Given the description of an element on the screen output the (x, y) to click on. 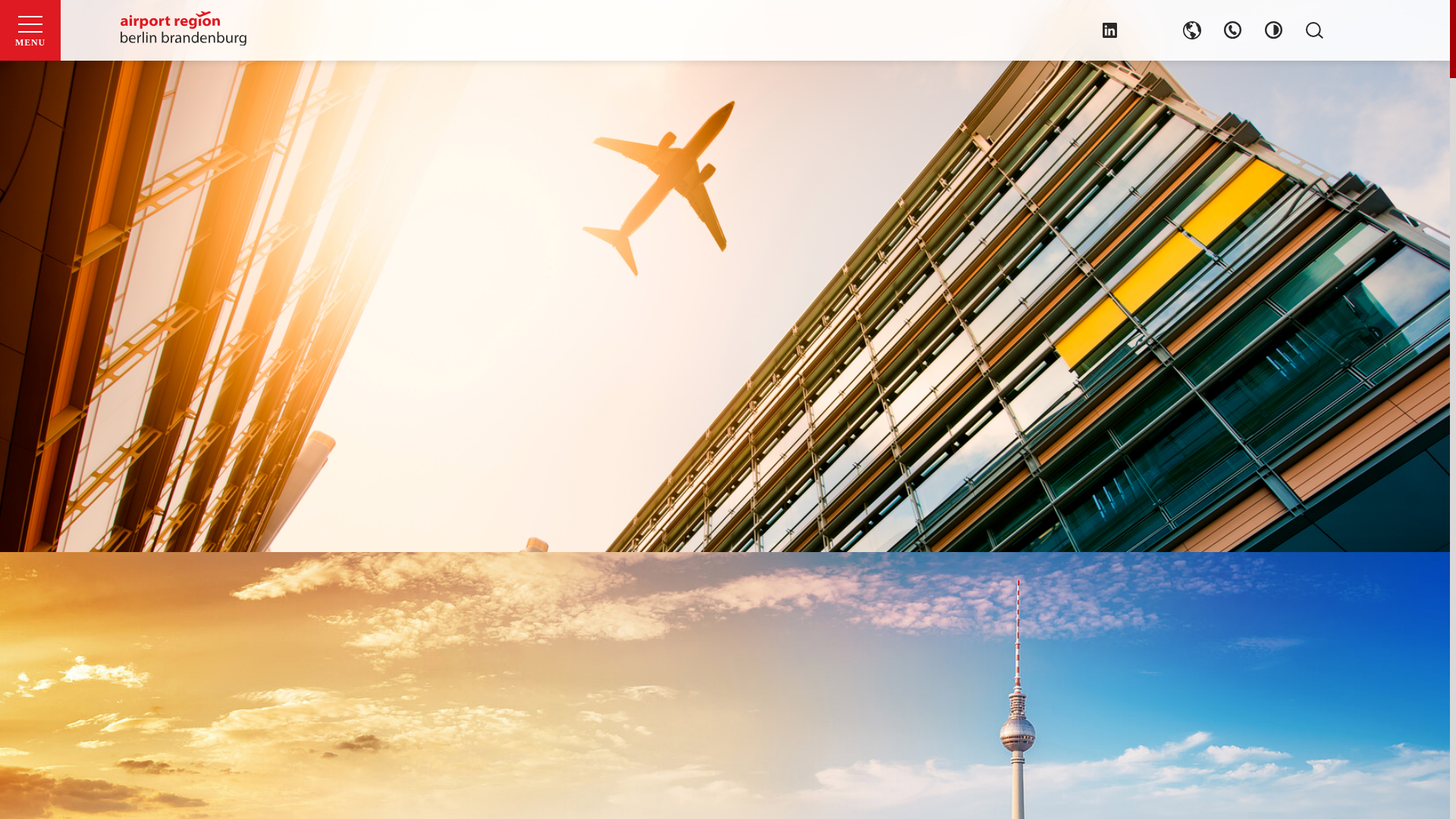
Twitter (1151, 30)
Contact (1232, 30)
LinkedIn (1110, 30)
